Given the description of an element on the screen output the (x, y) to click on. 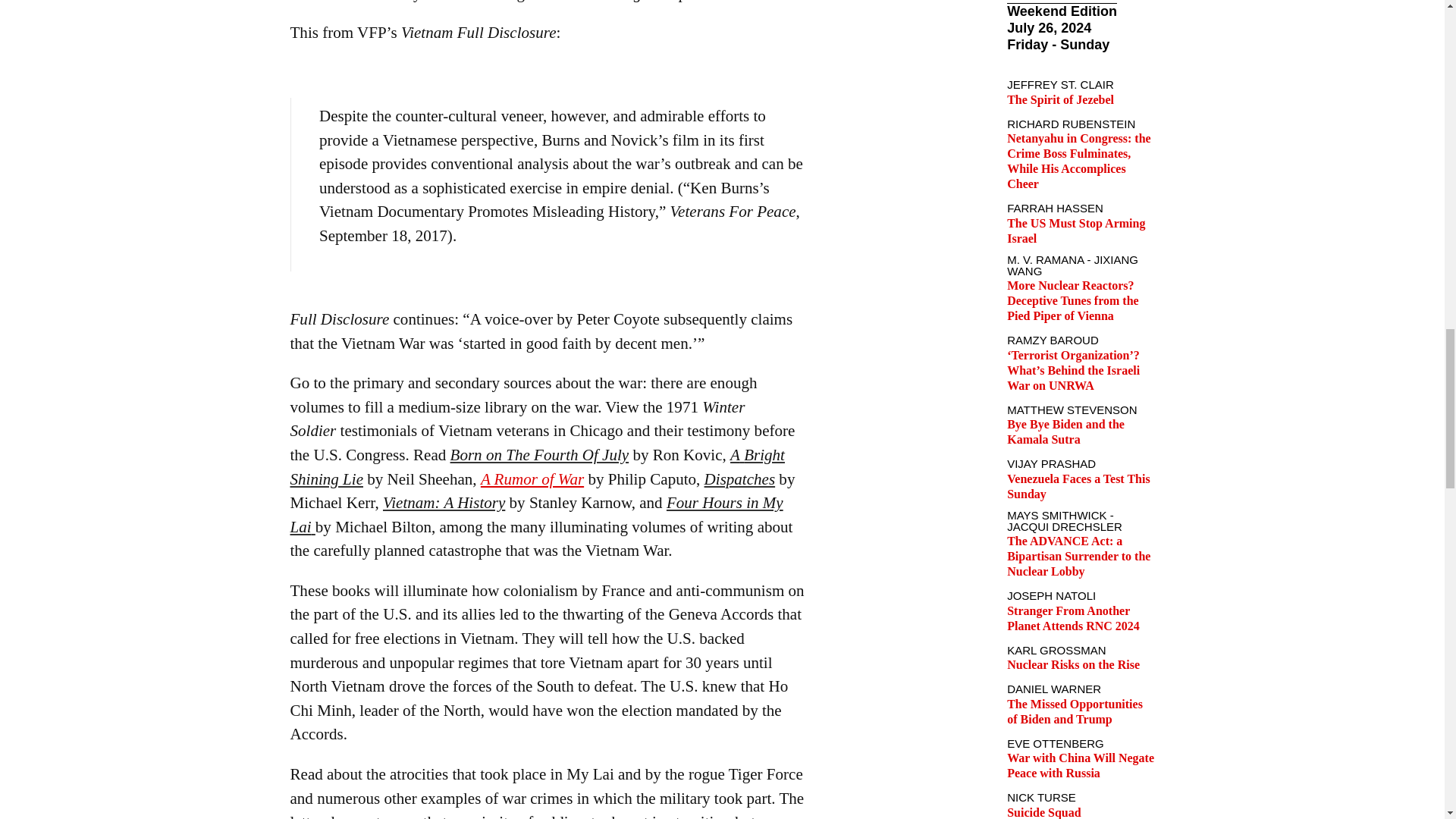
A Rumor of War (531, 479)
Born on The Fourth Of July (538, 454)
A Bright Shining Lie (536, 466)
Vietnam: A History (443, 502)
Dispatches (740, 479)
Four Hours in My Lai (536, 514)
